Given the description of an element on the screen output the (x, y) to click on. 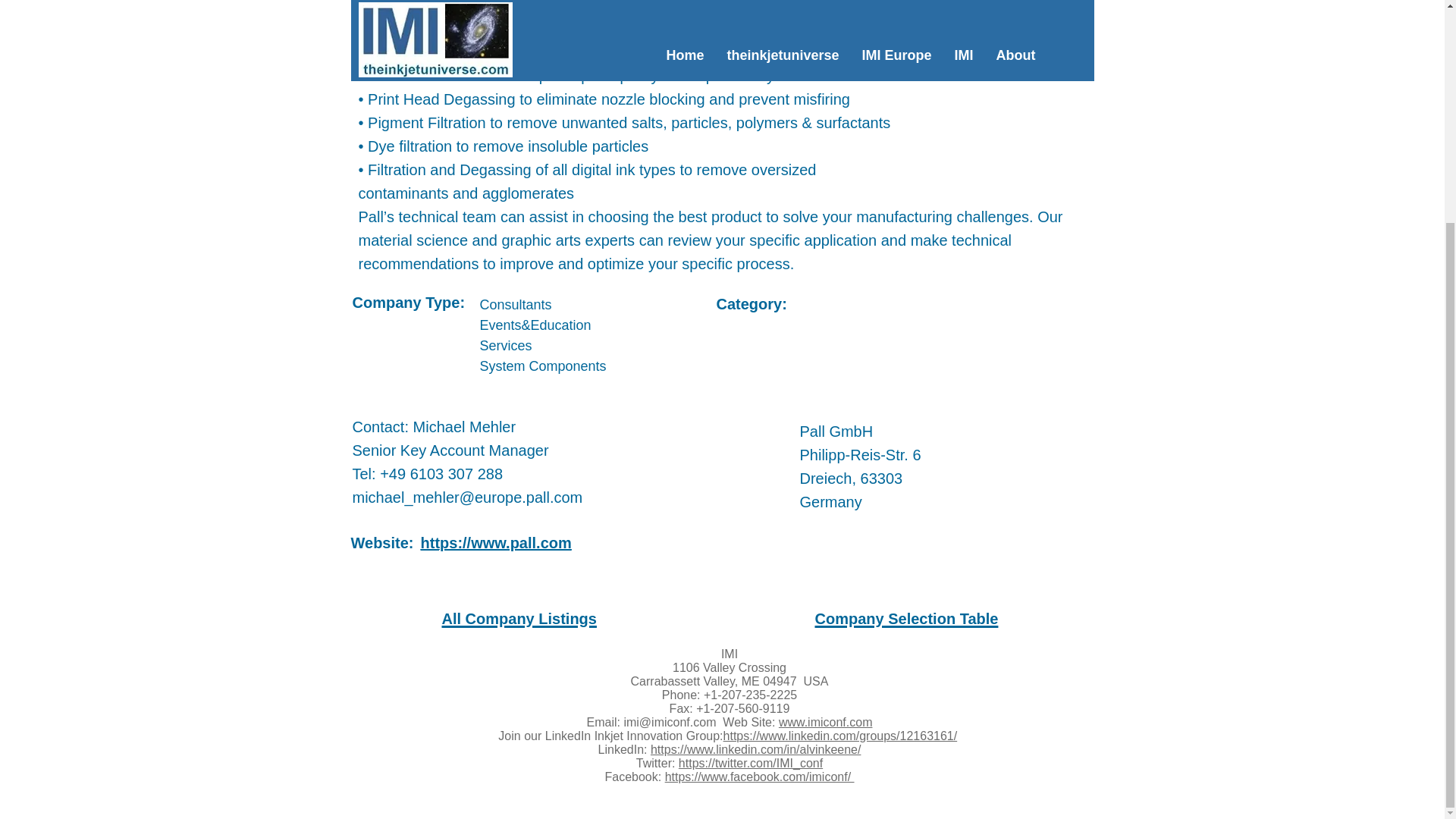
Company Selection Table (905, 618)
All Company Listings (518, 618)
www.imiconf.com (825, 721)
